Given the description of an element on the screen output the (x, y) to click on. 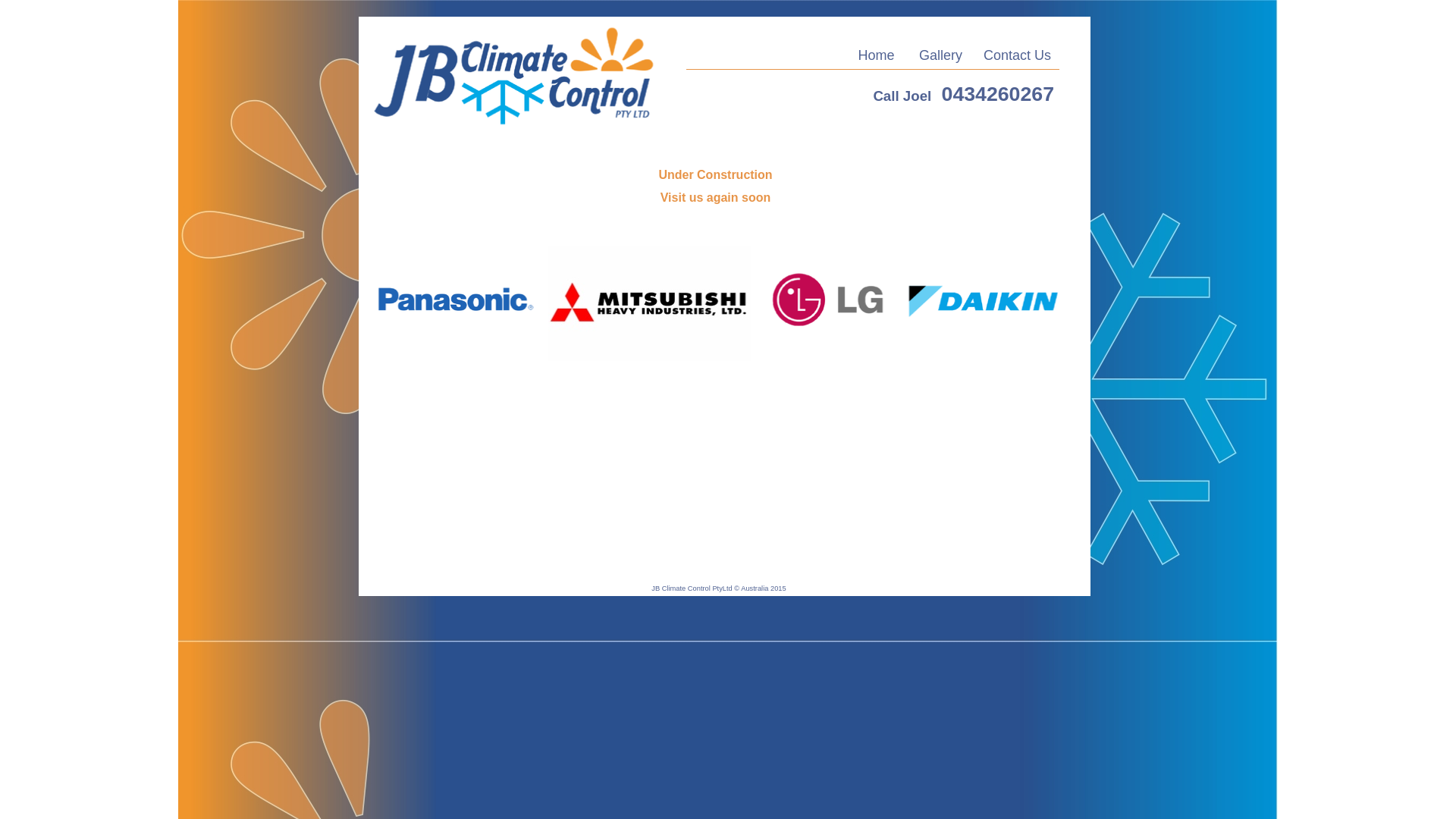
Contact Us Element type: text (1016, 57)
Home Element type: text (875, 57)
Gallery Element type: text (940, 57)
